Given the description of an element on the screen output the (x, y) to click on. 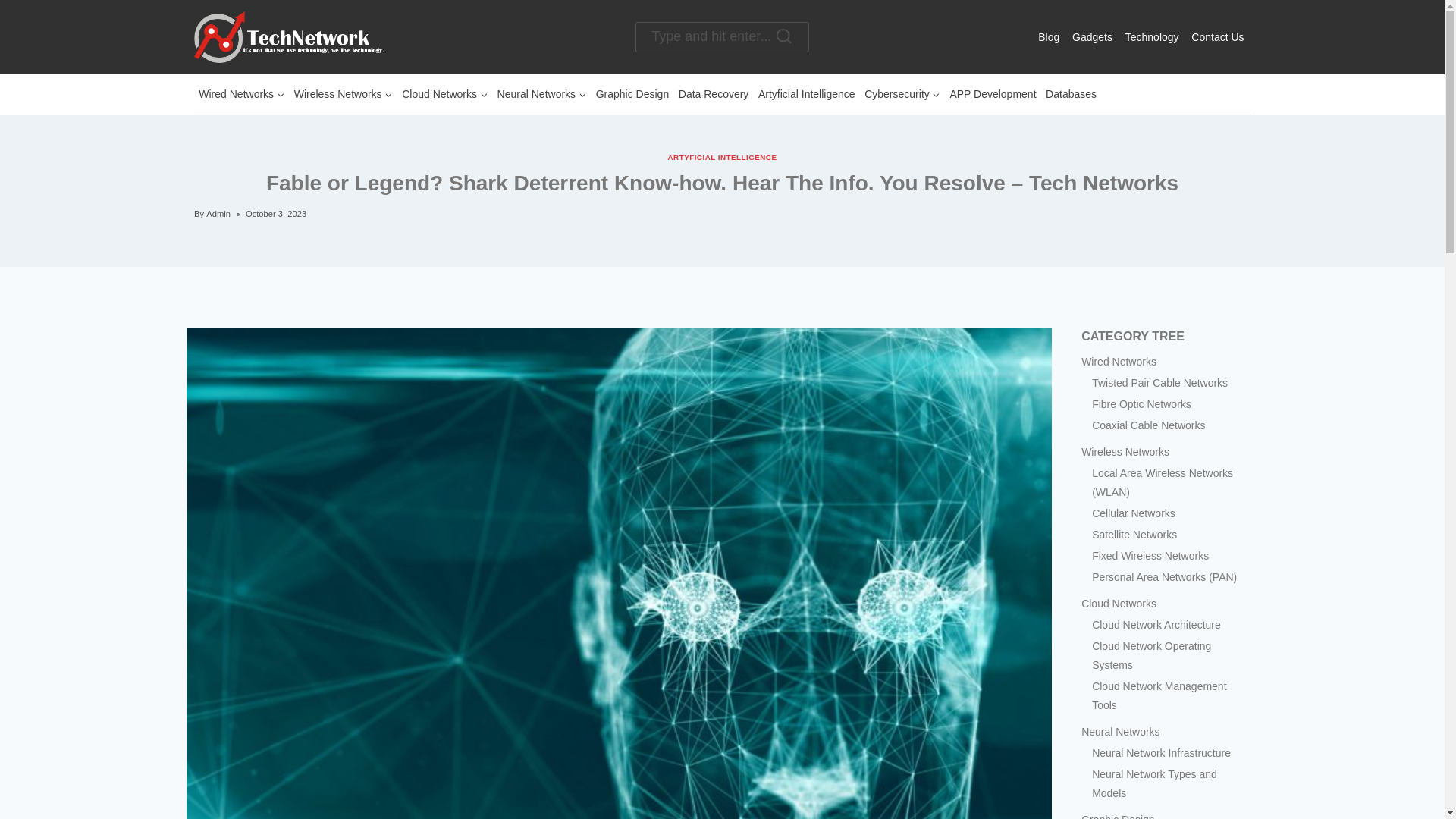
APP Development (992, 94)
Type and hit enter... (721, 37)
ARTYFICIAL INTELLIGENCE (722, 157)
Databases (1071, 94)
Data Recovery (712, 94)
Contact Us (1217, 36)
Admin (218, 213)
Wireless Networks (342, 94)
Gadgets (1092, 36)
Cybersecurity (902, 94)
Cloud Networks (444, 94)
Technology (1151, 36)
Blog (1048, 36)
Wired Networks (240, 94)
Graphic Design (631, 94)
